Given the description of an element on the screen output the (x, y) to click on. 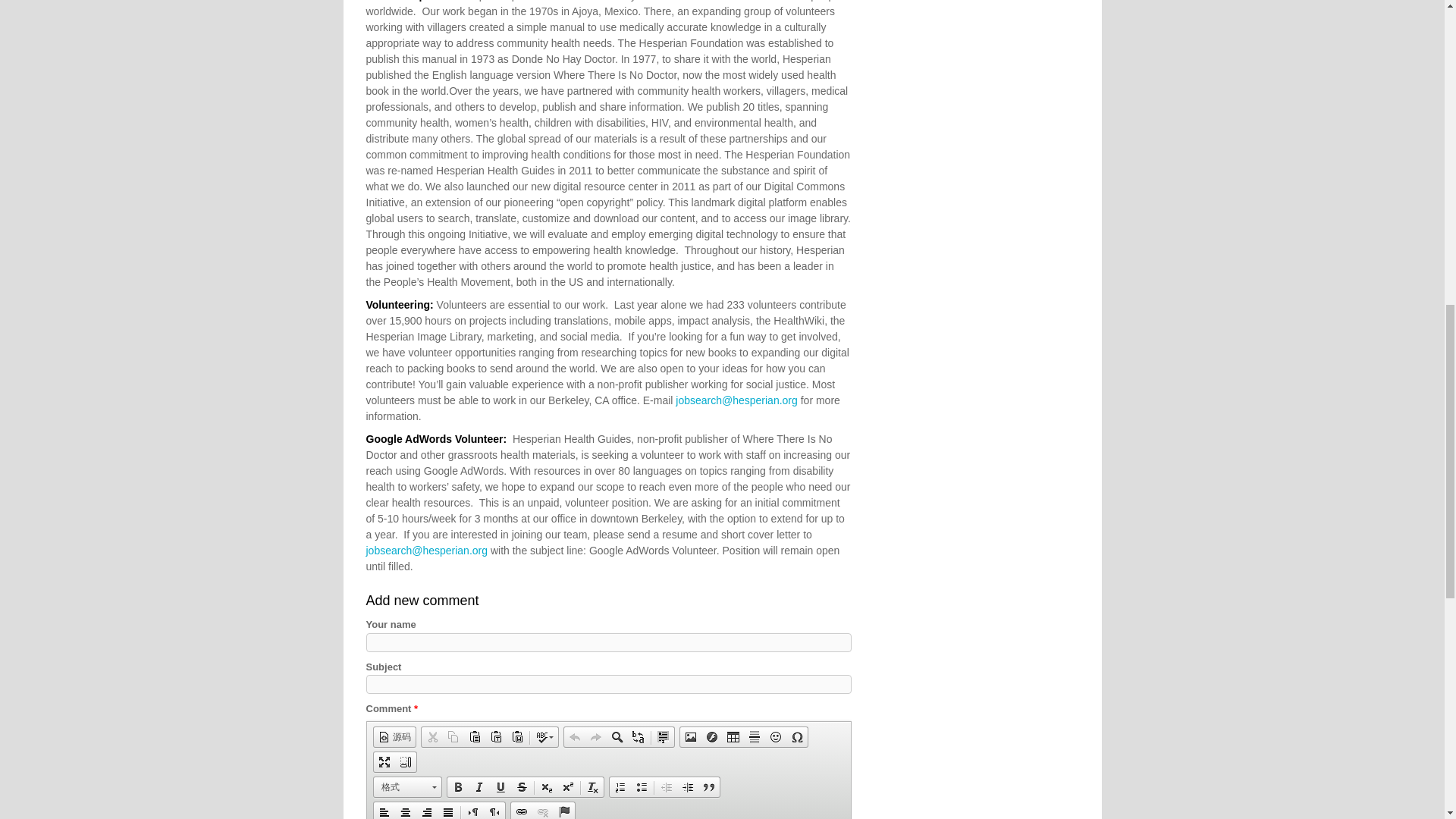
Flash (711, 736)
